Given the description of an element on the screen output the (x, y) to click on. 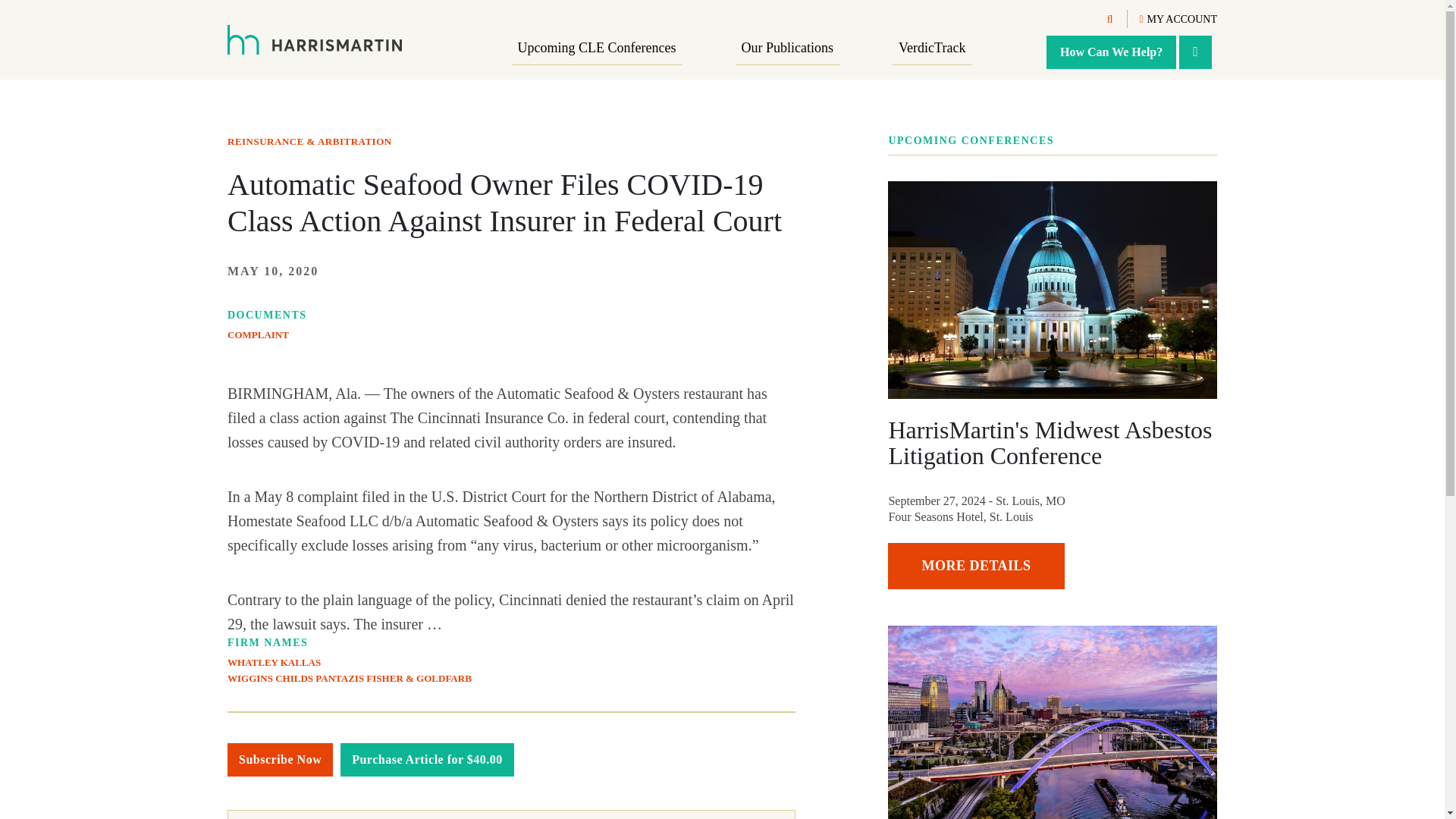
Upcoming CLE Conferences (597, 48)
Subscribe Now (280, 759)
Our Publications (787, 48)
MY ACCOUNT (1177, 19)
MORE DETAILS (976, 565)
VerdicTrack (931, 48)
How Can We Help? (1111, 52)
